Given the description of an element on the screen output the (x, y) to click on. 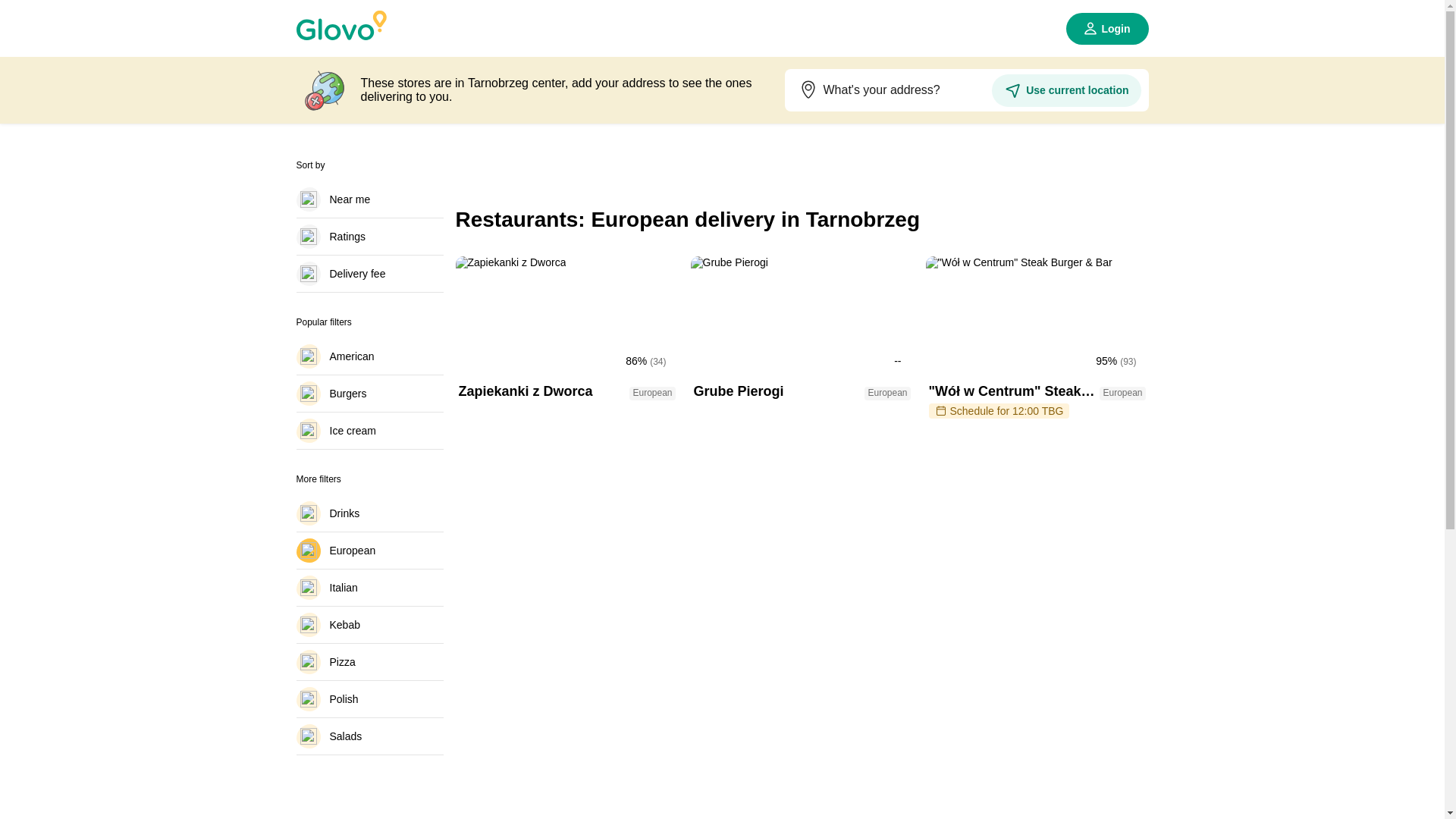
Ratings (368, 236)
Italian (368, 587)
Burgers (368, 393)
Login (1106, 29)
Salads (368, 735)
Pizza (801, 339)
Delivery fee (368, 662)
American (368, 273)
European (368, 355)
Near me (368, 550)
Drinks (368, 199)
Kebab (368, 513)
Polish (368, 624)
Ice cream (368, 699)
